Given the description of an element on the screen output the (x, y) to click on. 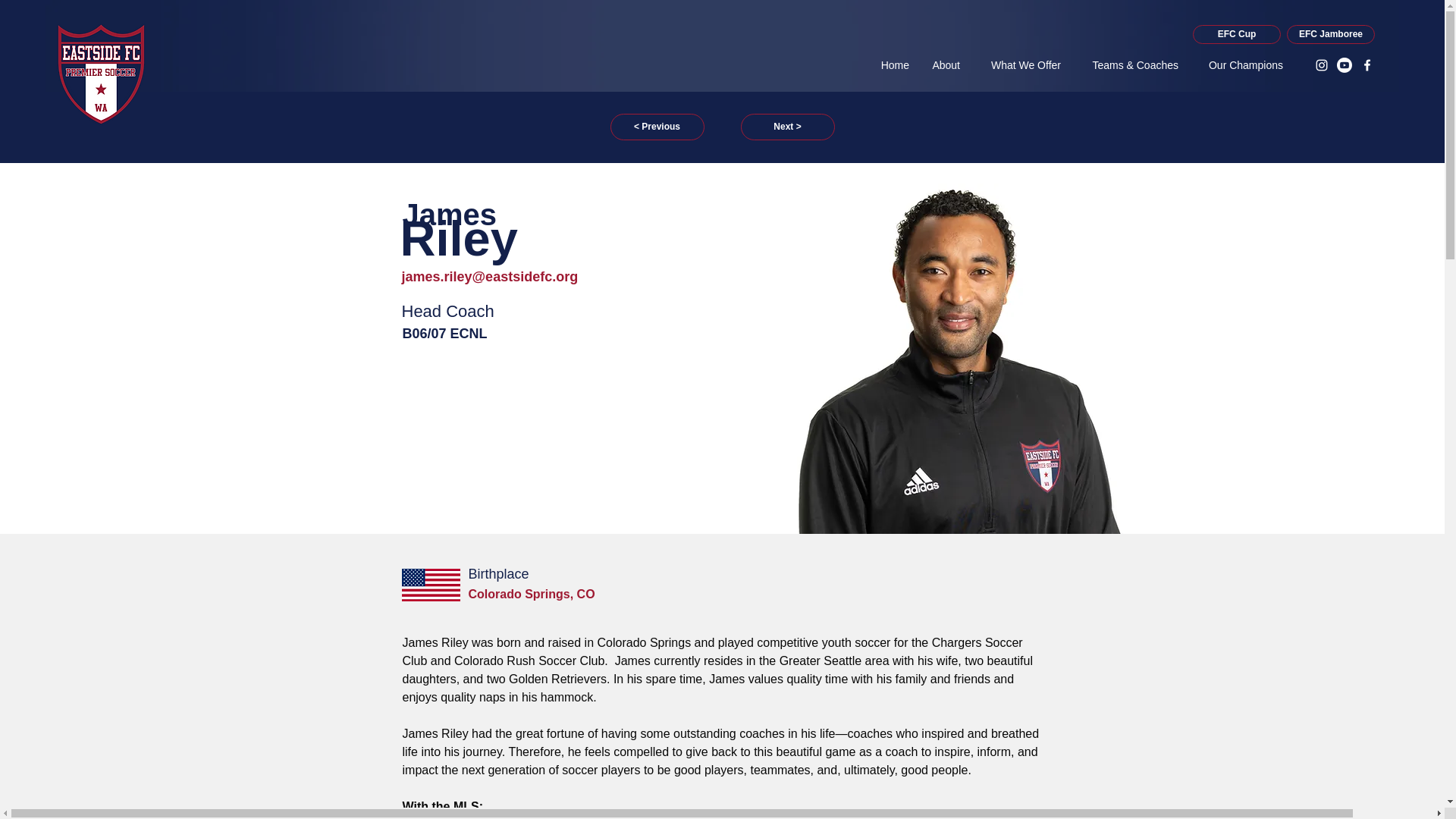
headshot-james-riley.jpg (953, 358)
What We Offer (1018, 65)
Our Champions (1238, 65)
Home (892, 65)
EFC Jamboree (1330, 34)
About (942, 65)
EFC Cup (1236, 34)
flag-usa.png (430, 584)
